Given the description of an element on the screen output the (x, y) to click on. 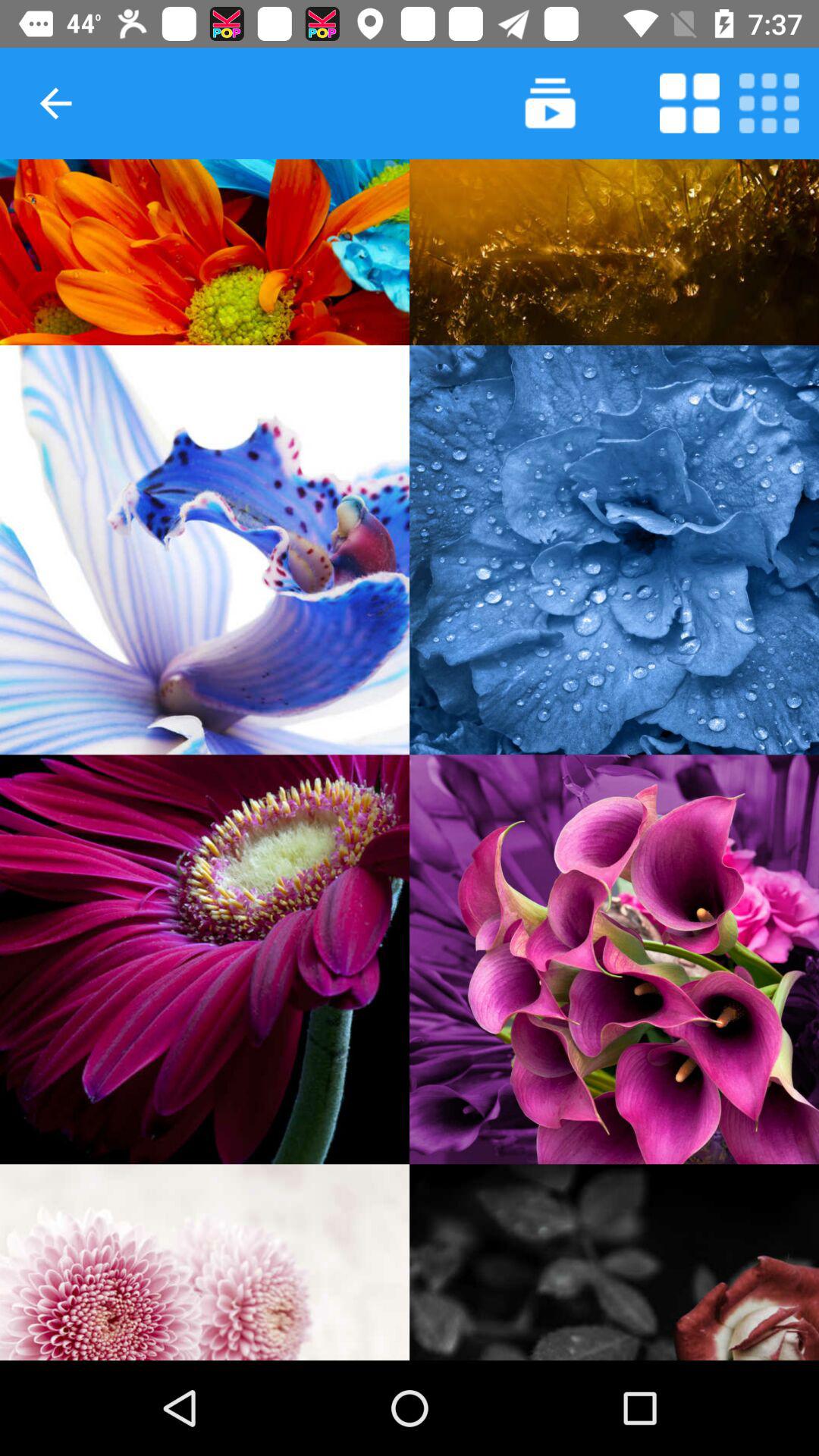
select picture (204, 959)
